Given the description of an element on the screen output the (x, y) to click on. 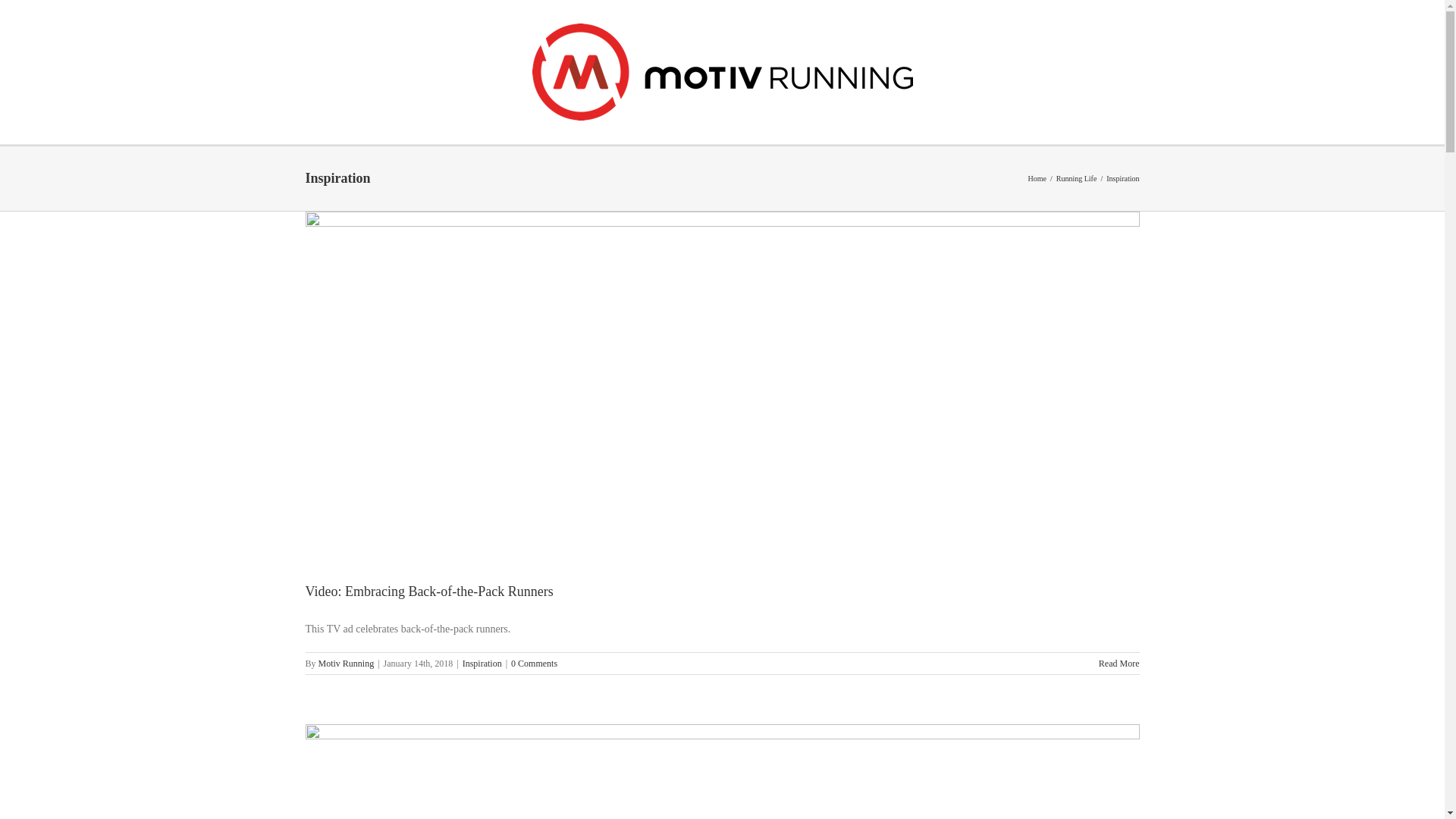
Home (1036, 178)
Read More (1119, 663)
0 Comments (534, 663)
Video: Embracing Back-of-the-Pack Runners (428, 590)
Motiv Running (346, 663)
Posts by Motiv Running (346, 663)
Inspiration (482, 663)
Running Life (1077, 178)
